Given the description of an element on the screen output the (x, y) to click on. 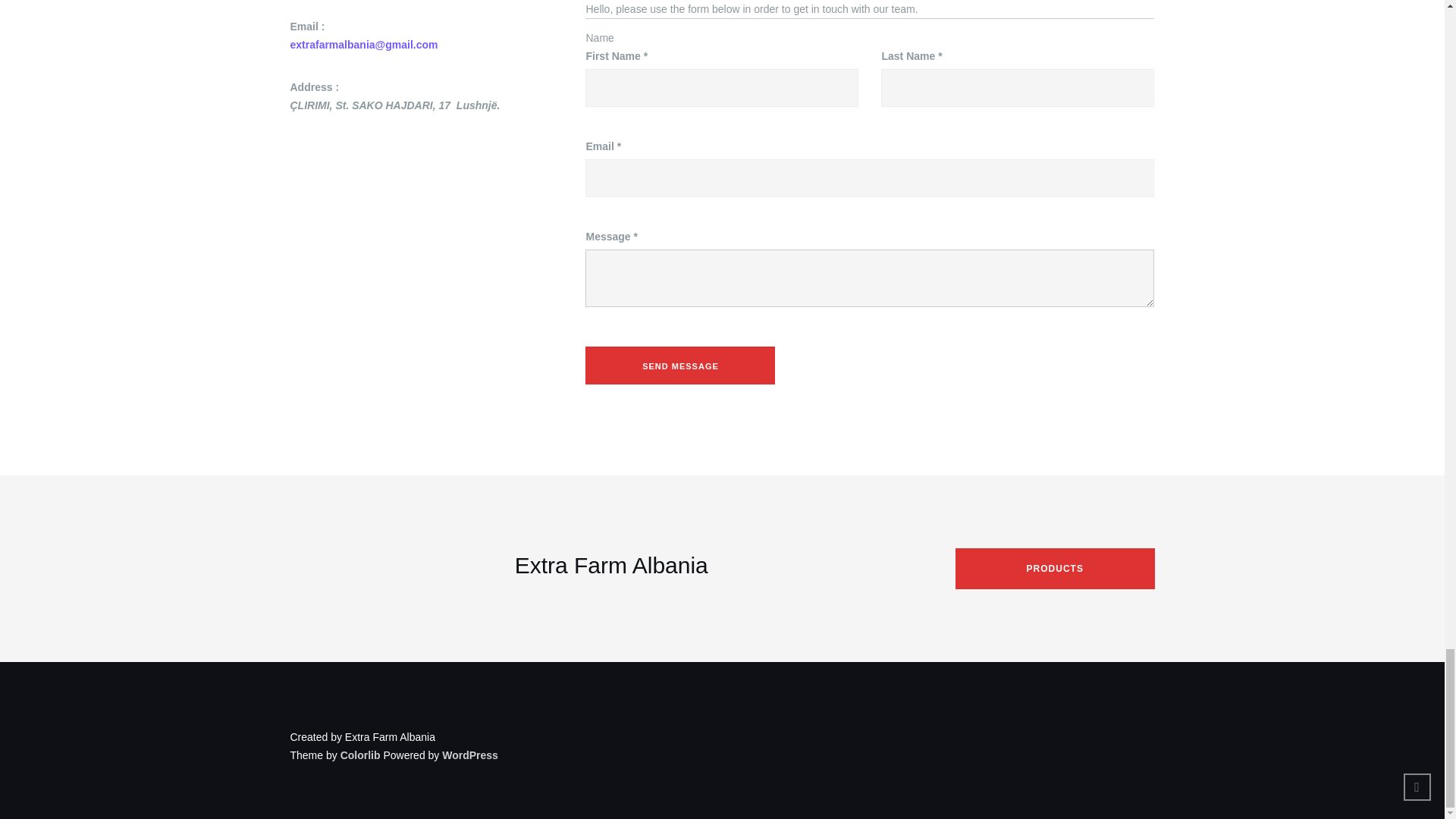
Send message (679, 365)
WordPress (469, 755)
Colorlib (360, 755)
PRODUCTS (1054, 567)
Send message (679, 365)
WordPress.org (469, 755)
Colorlib (360, 755)
